Given the description of an element on the screen output the (x, y) to click on. 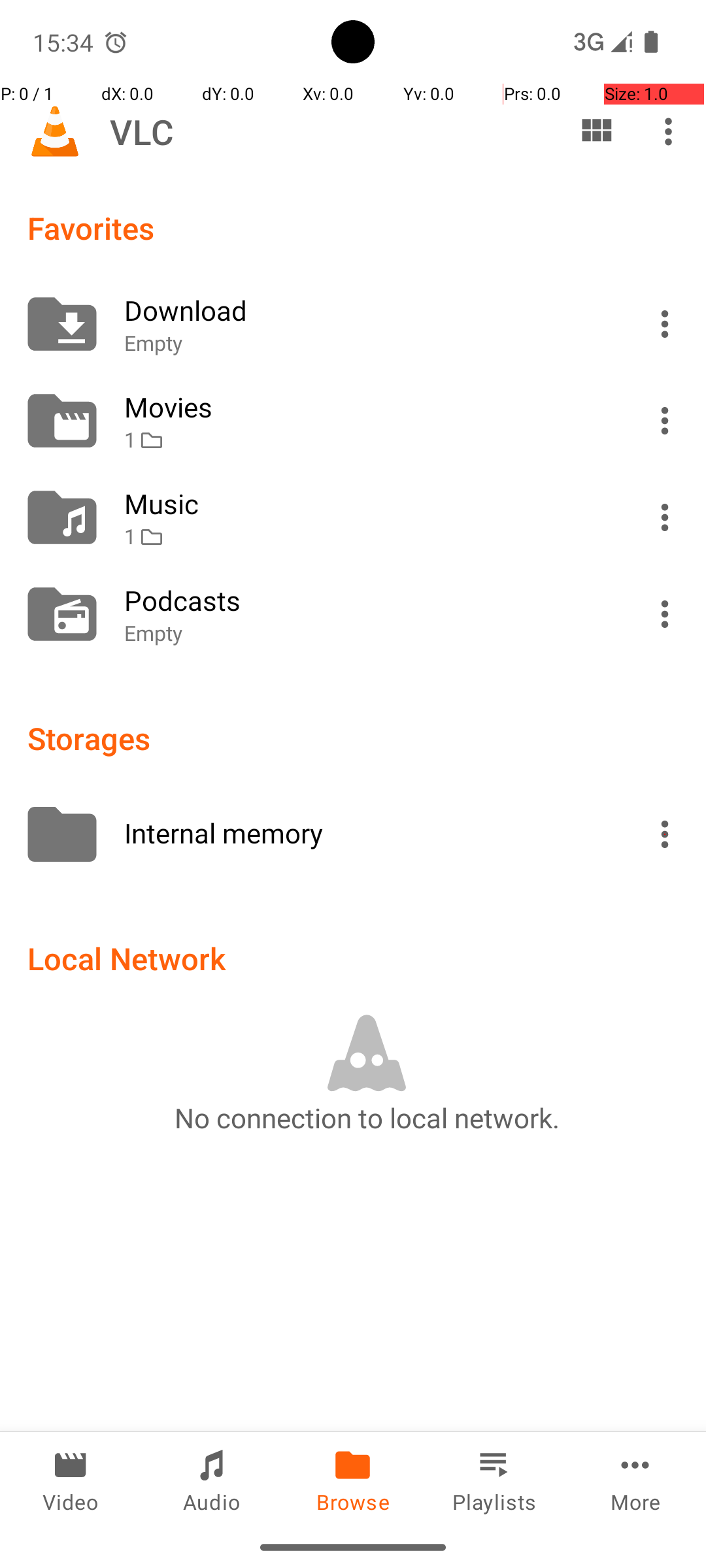
Display in grid Element type: android.widget.TextView (595, 131)
Folder: Internal memory, Empty Element type: android.view.ViewGroup (353, 833)
